Given the description of an element on the screen output the (x, y) to click on. 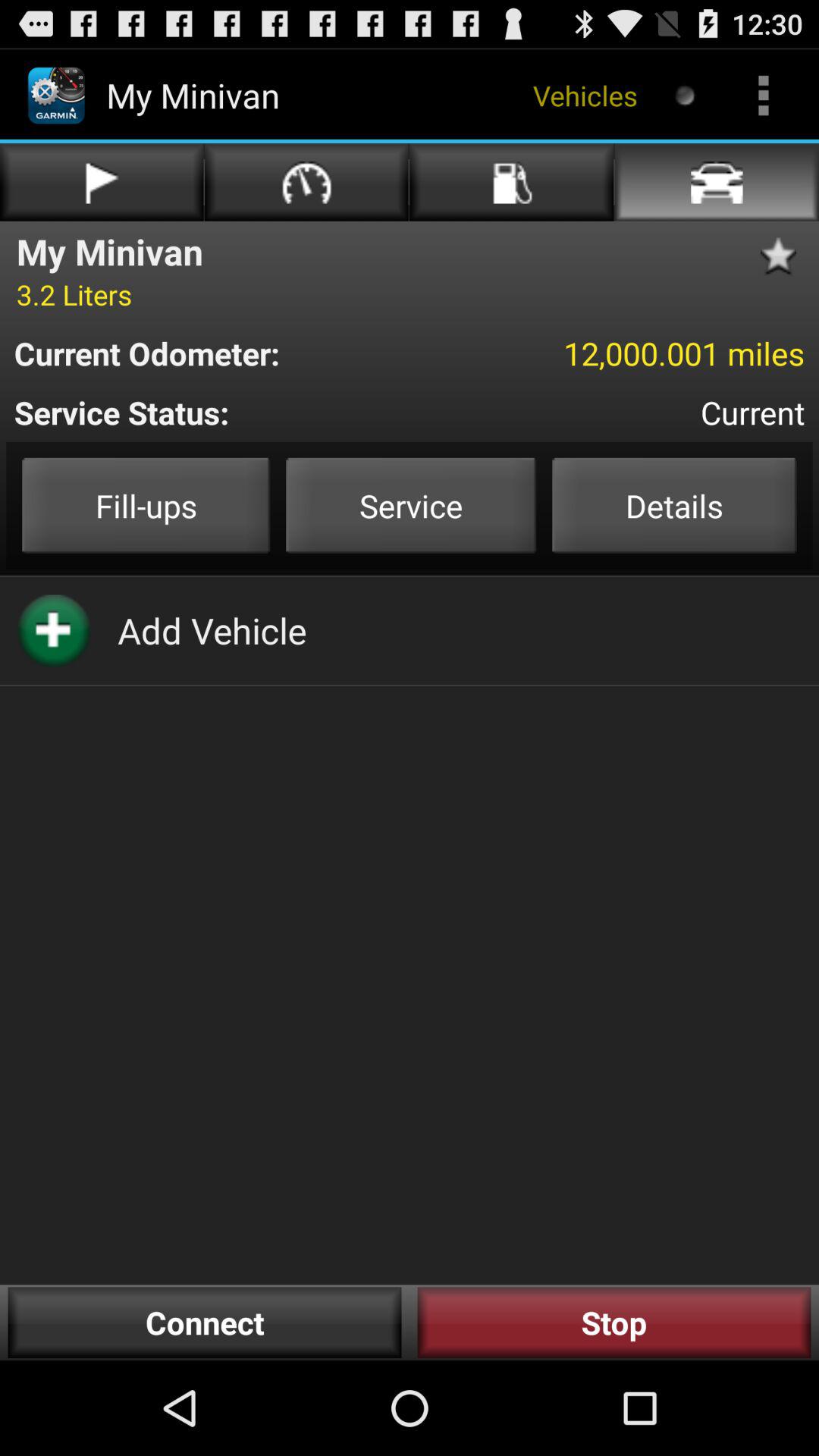
click item next to the current app (239, 411)
